Given the description of an element on the screen output the (x, y) to click on. 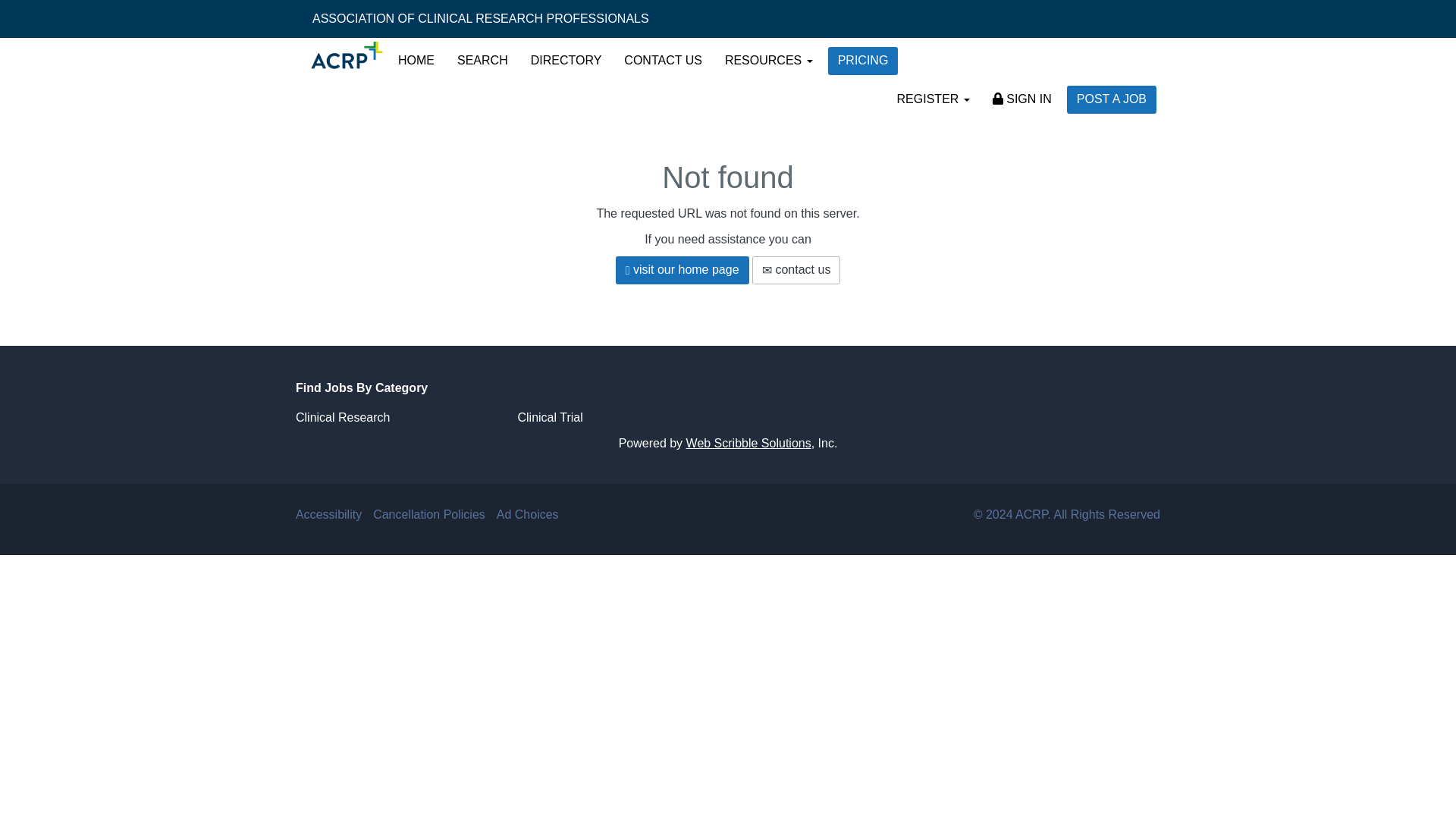
POST A JOB (1111, 99)
CONTACT US (662, 60)
Find Jobs By Category (727, 388)
RESOURCES (768, 60)
Clinical Trial (549, 417)
contact us (796, 270)
Cancellation Policies (428, 513)
SIGN IN (1021, 98)
Web Scribble Solutions (747, 442)
PRICING (863, 60)
SEARCH (482, 60)
visit our home page (682, 270)
REGISTER (933, 98)
Ad Choices (527, 513)
HOME (416, 60)
